Given the description of an element on the screen output the (x, y) to click on. 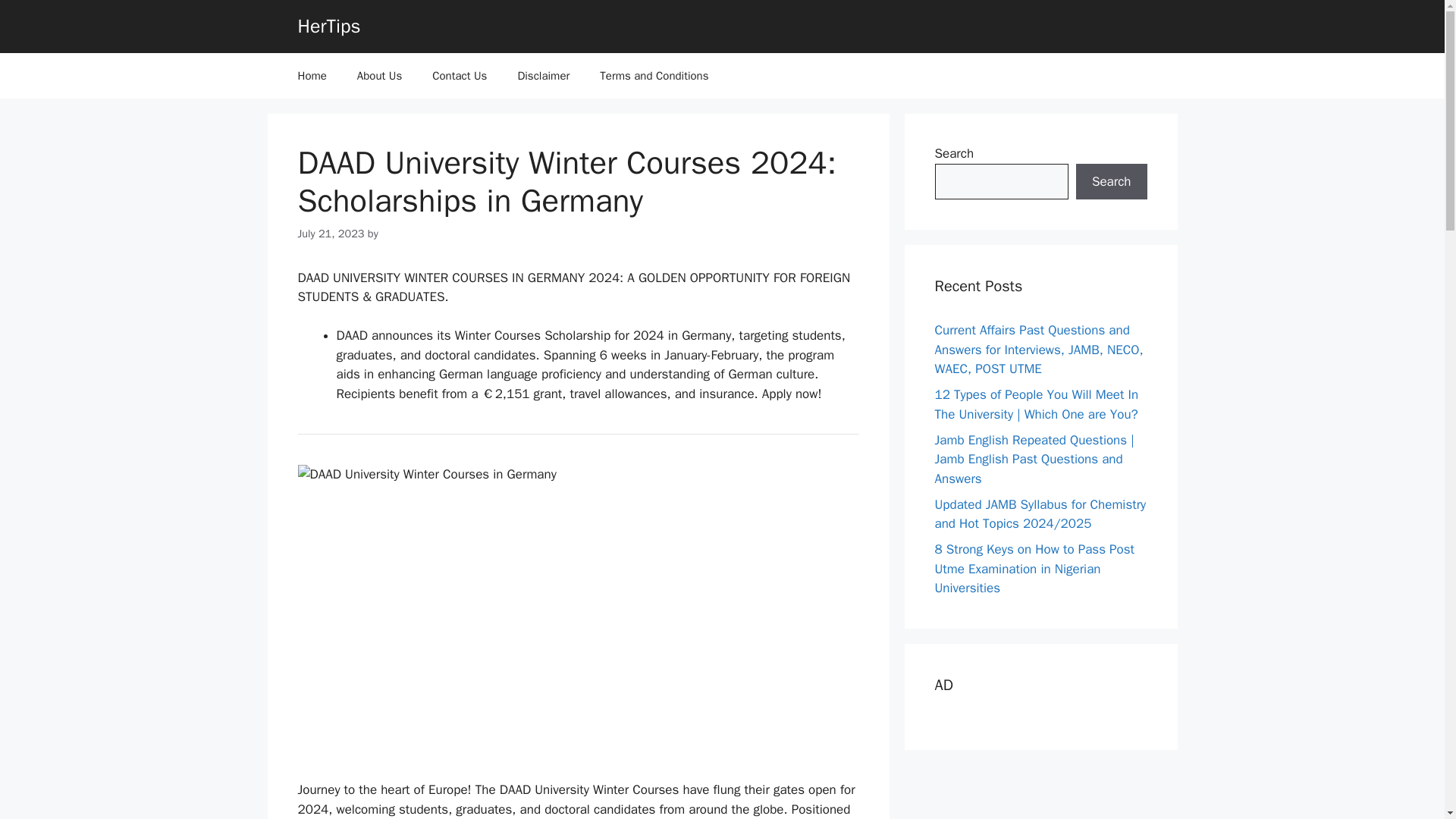
Disclaimer (543, 75)
About Us (379, 75)
HerTips (328, 25)
Contact Us (459, 75)
Home (311, 75)
Terms and Conditions (654, 75)
Search (1111, 181)
